Given the description of an element on the screen output the (x, y) to click on. 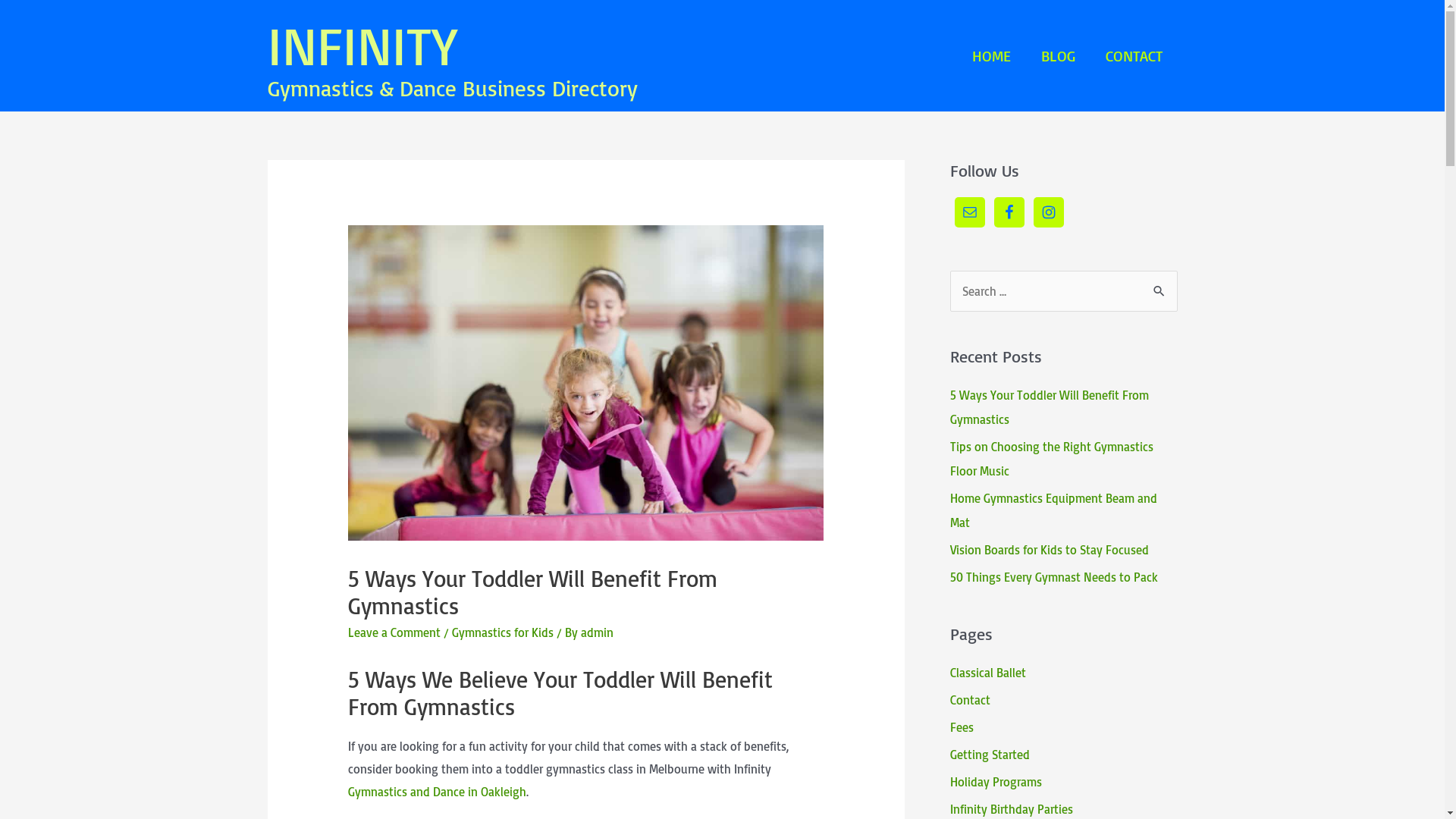
Classical Ballet Element type: text (987, 672)
Contact Element type: text (969, 699)
Home Gymnastics Equipment Beam and Mat Element type: text (1052, 510)
INFINITY Element type: text (361, 44)
admin Element type: text (596, 632)
Infinity Birthday Parties Element type: text (1010, 808)
BLOG Element type: text (1057, 55)
Gymnastics and Dance in Oakleigh Element type: text (437, 791)
CONTACT Element type: text (1133, 55)
5 Ways Your Toddler Will Benefit From Gymnastics Element type: text (1048, 406)
Search Element type: text (1160, 291)
Vision Boards for Kids to Stay Focused Element type: text (1048, 549)
Gymnastics for Kids Element type: text (502, 632)
50 Things Every Gymnast Needs to Pack Element type: text (1053, 576)
Leave a Comment Element type: text (394, 632)
Getting Started Element type: text (989, 754)
Holiday Programs Element type: text (995, 781)
Tips on Choosing the Right Gymnastics Floor Music Element type: text (1050, 458)
Fees Element type: text (960, 726)
HOME Element type: text (991, 55)
